Given the description of an element on the screen output the (x, y) to click on. 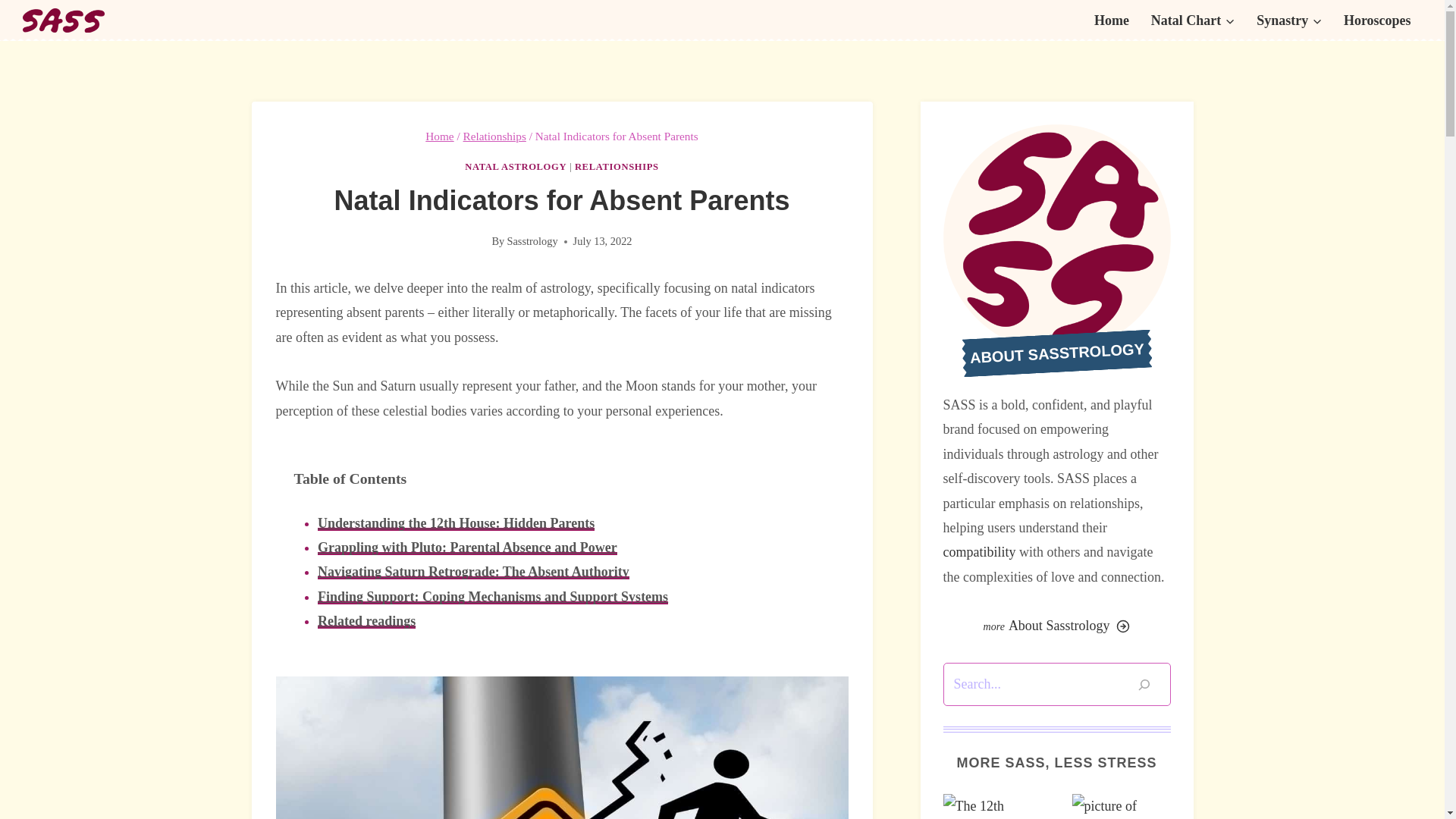
Navigating Saturn Retrograde: The Absent Authority (472, 571)
Understanding the 12th House: Hidden Parents (455, 522)
Finding Support: Coping Mechanisms and Support Systems (492, 596)
Natal Chart (1192, 20)
Home (1111, 20)
NATAL ASTROLOGY (515, 166)
Home (438, 135)
Synastry (1289, 20)
Relationships (494, 135)
RELATIONSHIPS (617, 166)
Related readings (365, 620)
Grappling with Pluto: Parental Absence and Power (467, 547)
Sasstrology (531, 241)
Horoscopes (1377, 20)
